Given the description of an element on the screen output the (x, y) to click on. 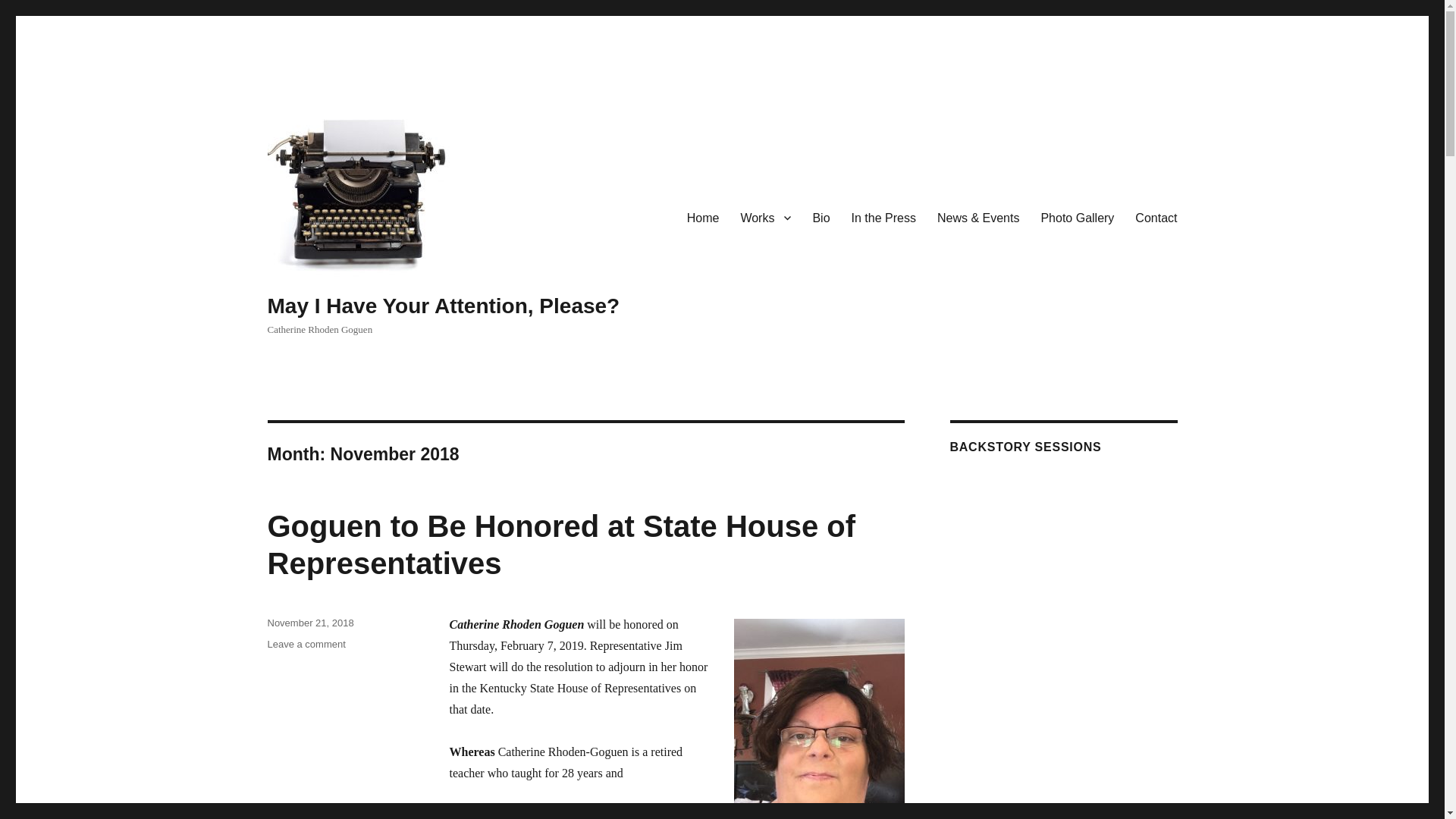
In the Press (883, 217)
Home (703, 217)
Goguen to Be Honored at State House of Representatives (561, 544)
Contact (1156, 217)
Home (703, 217)
Photo Gallery (1076, 217)
Bio (821, 217)
Works (765, 217)
May I Have Your Attention, Please? (443, 305)
November 21, 2018 (309, 622)
